Given the description of an element on the screen output the (x, y) to click on. 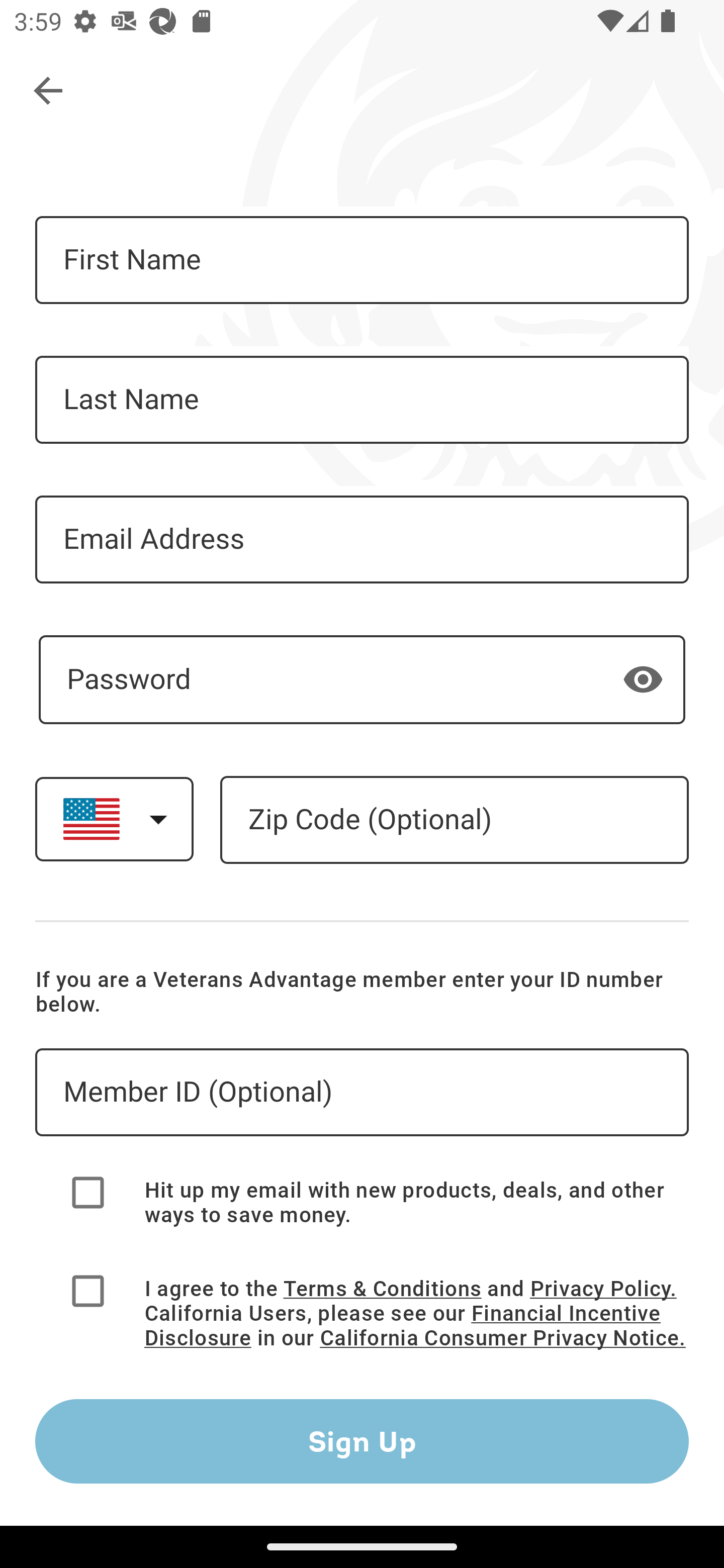
Navigate up (49, 91)
First Name - Required (361, 260)
Last Name - Required (361, 399)
Email Address - Required (361, 539)
- Required (361, 679)
Show password (642, 678)
Zip Code – Optional (454, 819)
Select a country. United States selected. (114, 818)
Veterans Advantage ID – Optional (361, 1092)
Sign Up (361, 1440)
